Given the description of an element on the screen output the (x, y) to click on. 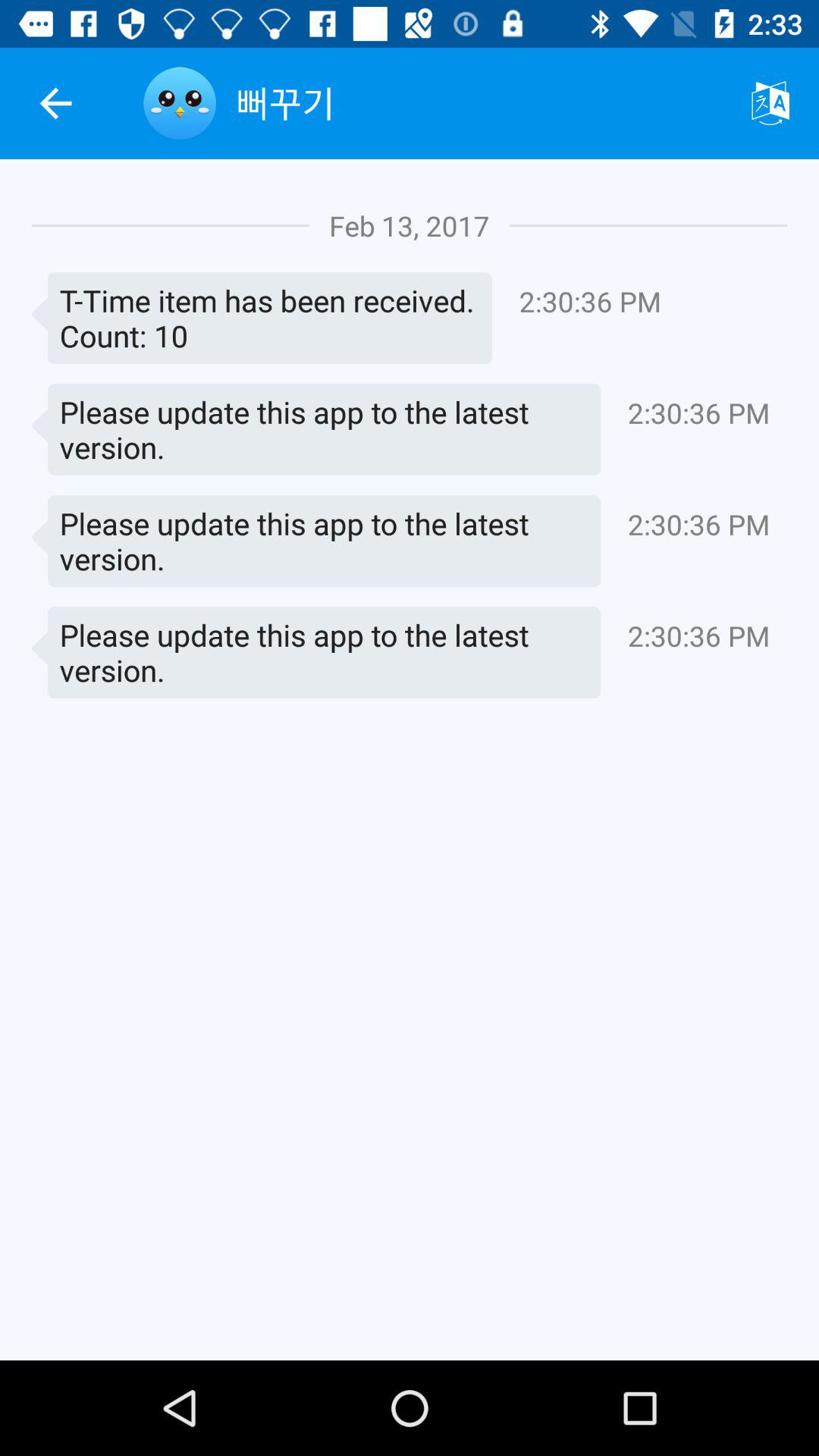
select item above please update this item (261, 318)
